Given the description of an element on the screen output the (x, y) to click on. 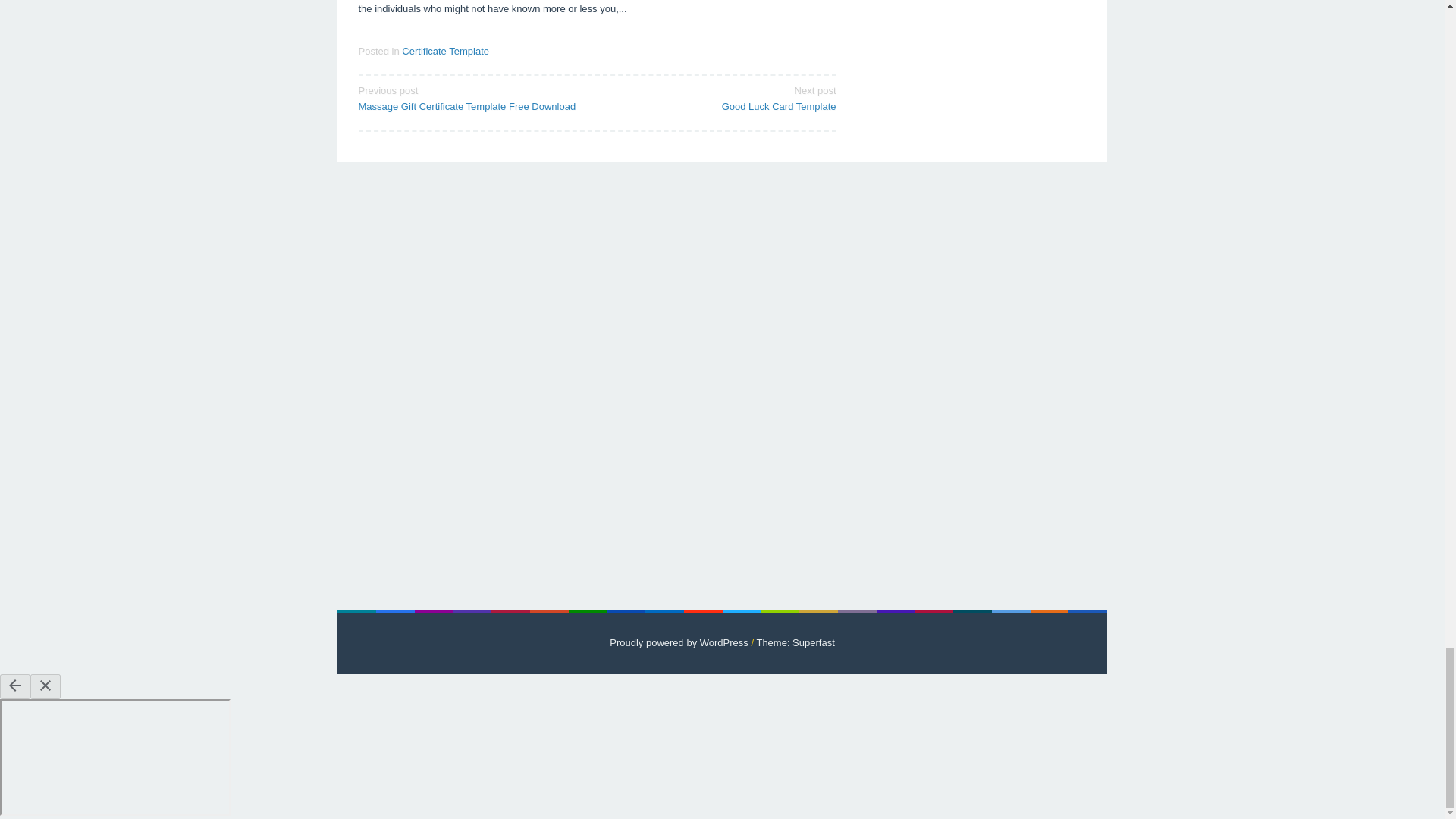
Certificate Template (445, 50)
